Given the description of an element on the screen output the (x, y) to click on. 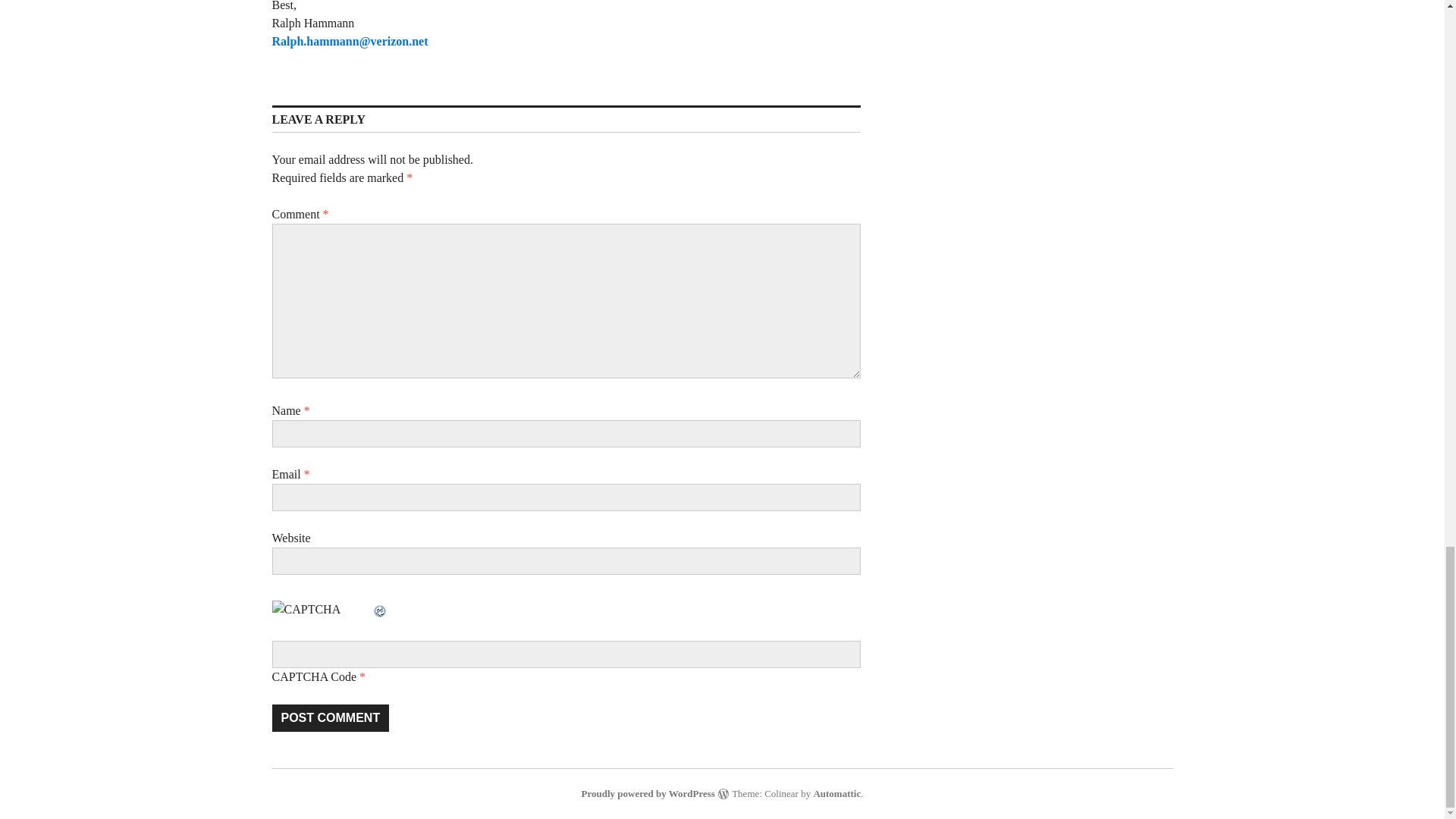
CAPTCHA (320, 616)
Refresh (379, 608)
Post Comment (329, 718)
